Given the description of an element on the screen output the (x, y) to click on. 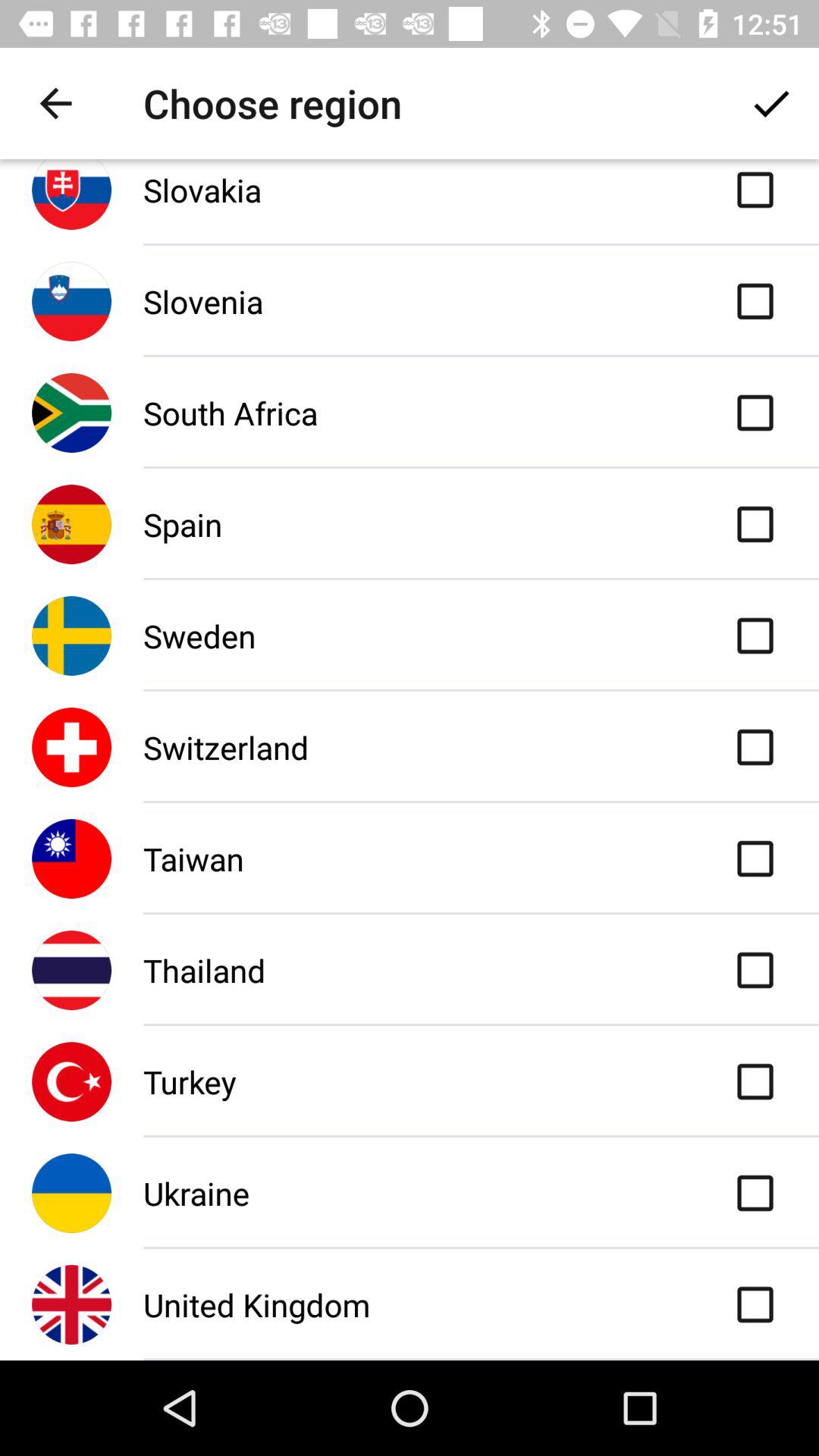
turn on the item next to the choose region icon (55, 103)
